Given the description of an element on the screen output the (x, y) to click on. 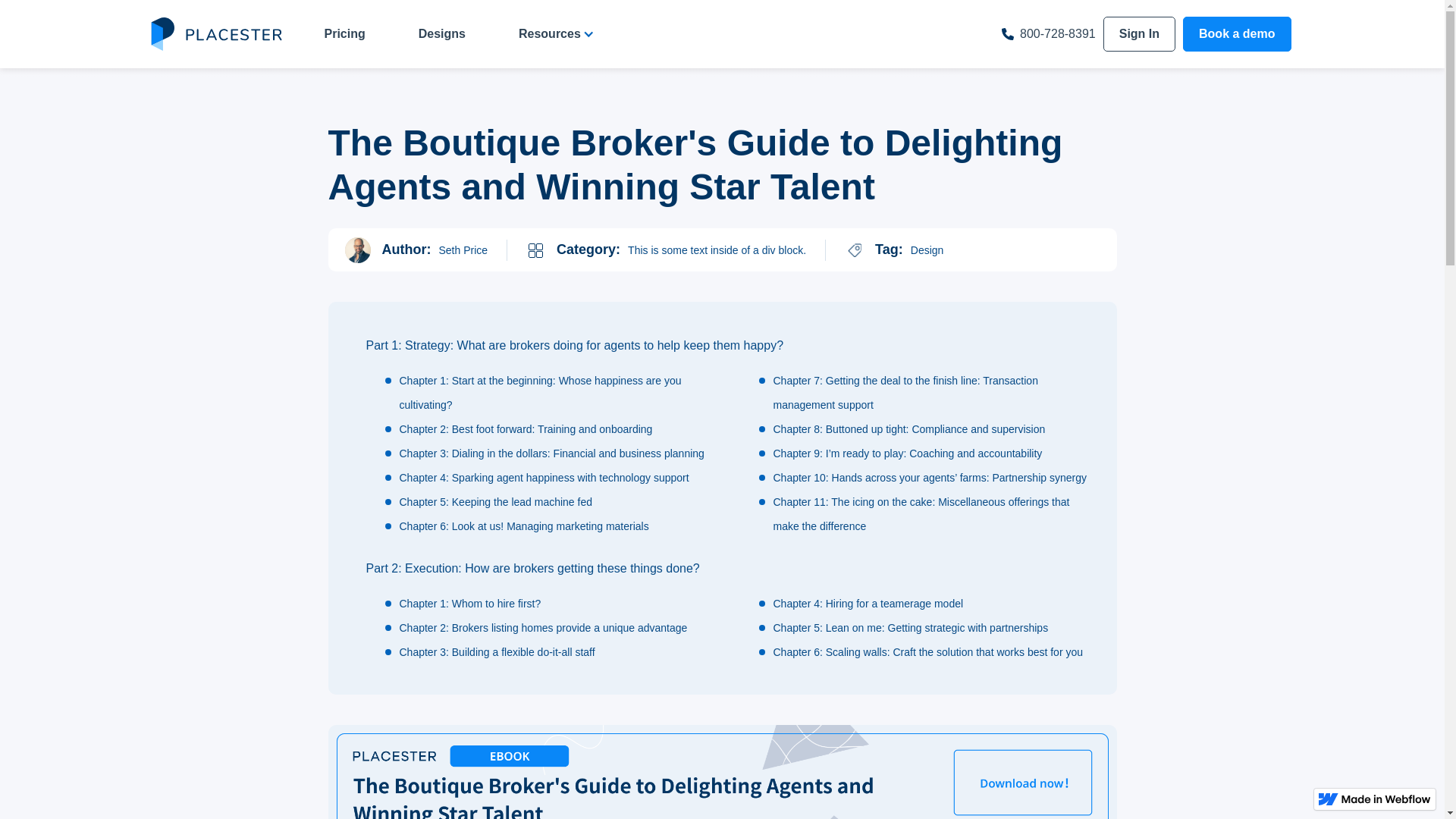
Chapter 8: Buttoned up tight: Compliance and supervision (911, 428)
Chapter 1: Whom to hire first? (471, 603)
Chapter 2: Best foot forward: Training and onboarding (527, 428)
Chapter 4: Sparking agent happiness with technology support (545, 477)
Chapter 6: Look at us! Managing marketing materials (525, 526)
Chapter 2: Brokers listing homes provide a unique advantage (544, 627)
Chapter 5: Keeping the lead machine fed (496, 501)
